Given the description of an element on the screen output the (x, y) to click on. 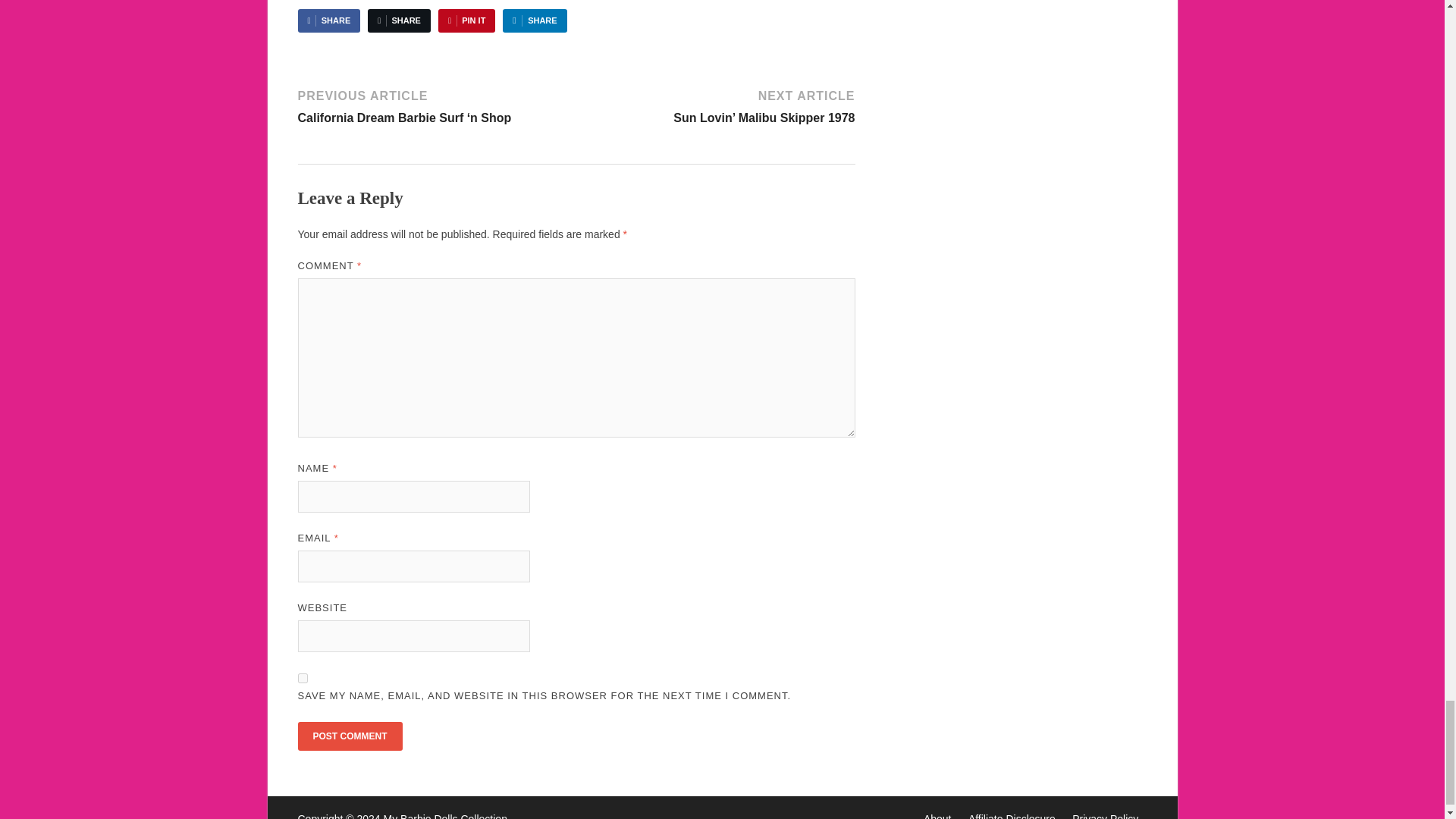
yes (302, 678)
Post Comment (349, 736)
